Given the description of an element on the screen output the (x, y) to click on. 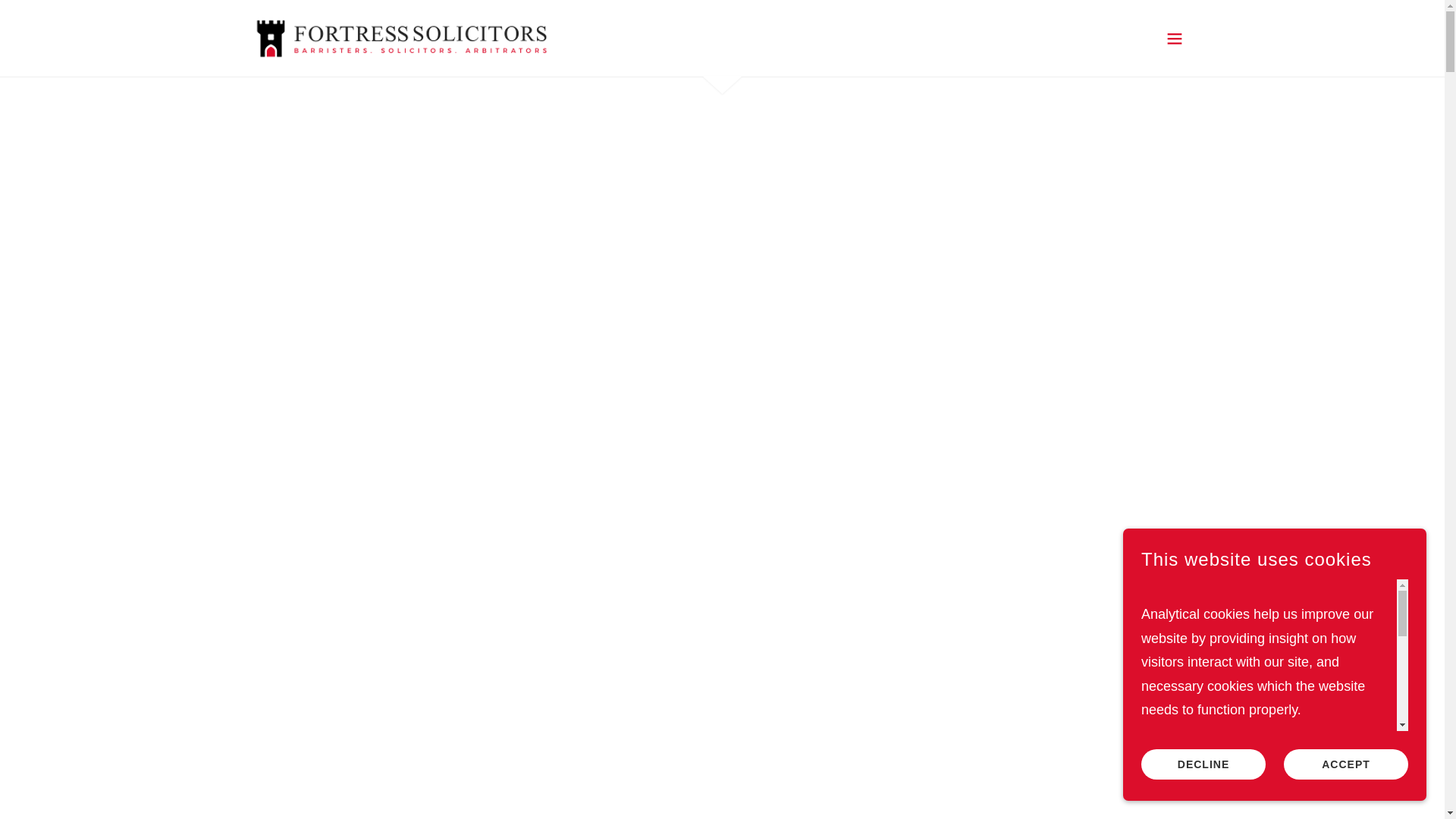
ACCEPT (1345, 764)
DECLINE (1203, 764)
Fortress Solicitors (400, 37)
